Given the description of an element on the screen output the (x, y) to click on. 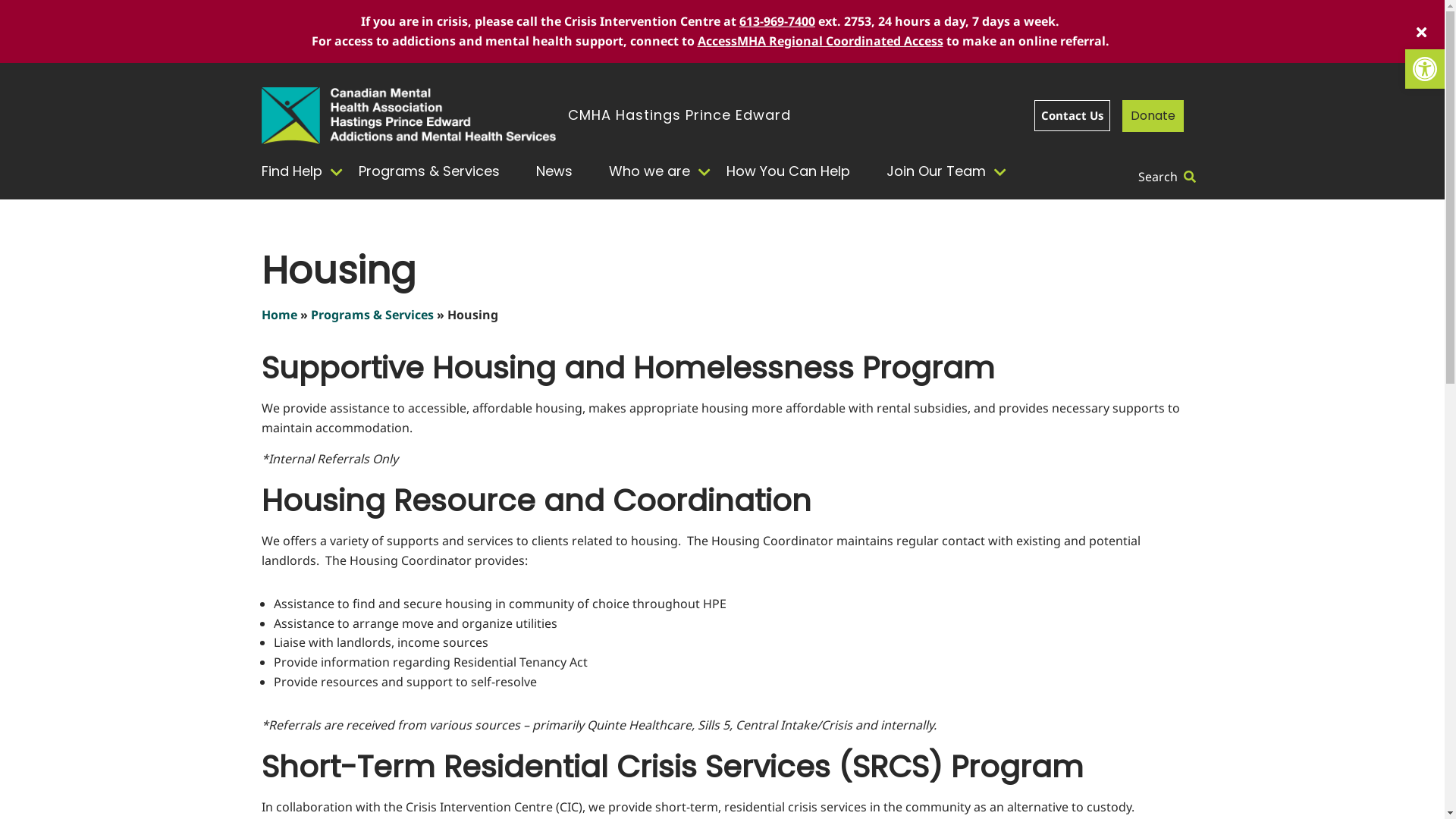
Who we are Element type: text (654, 171)
Programs & Services Element type: text (371, 314)
How You Can Help Element type: text (794, 171)
Search Element type: text (1166, 176)
Contact Us Element type: text (1072, 115)
AccessMHA Regional Coordinated Access Element type: text (820, 40)
News Element type: text (559, 171)
Home Element type: text (278, 314)
Programs & Services Element type: text (434, 171)
Open toolbar
Accessibility Tools Element type: text (1424, 68)
613-969-7400 Element type: text (777, 20)
Find Help Element type: text (302, 171)
Join Our Team Element type: text (941, 171)
Donate Element type: text (1152, 115)
